Given the description of an element on the screen output the (x, y) to click on. 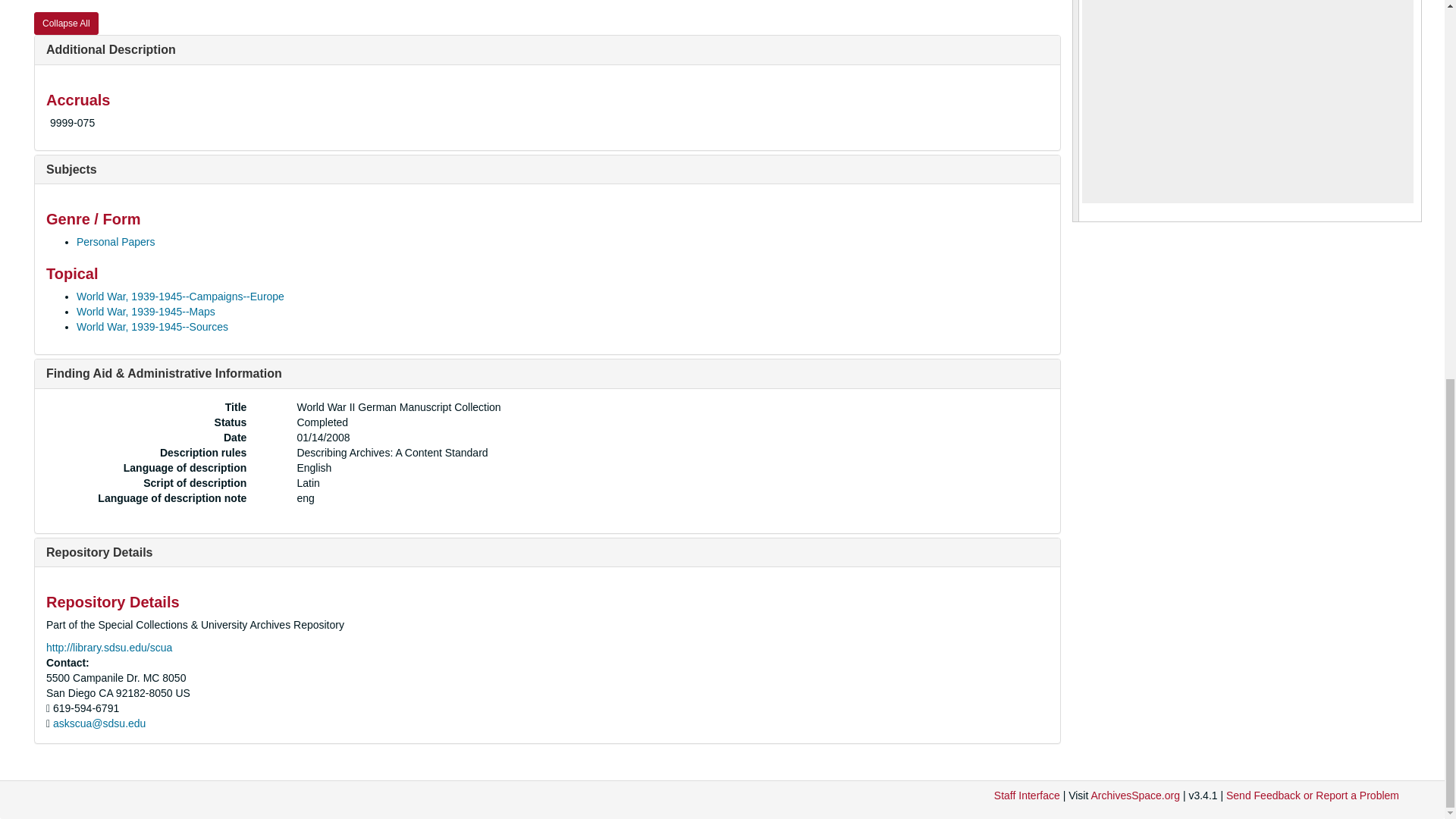
Subjects (71, 169)
Repository Details (99, 552)
Collapse All (66, 23)
Personal Papers (116, 241)
World War, 1939-1945--Campaigns--Europe (180, 296)
World War, 1939-1945--Sources (152, 326)
Send email (98, 723)
Additional Description (111, 49)
World War, 1939-1945--Maps (146, 311)
